Given the description of an element on the screen output the (x, y) to click on. 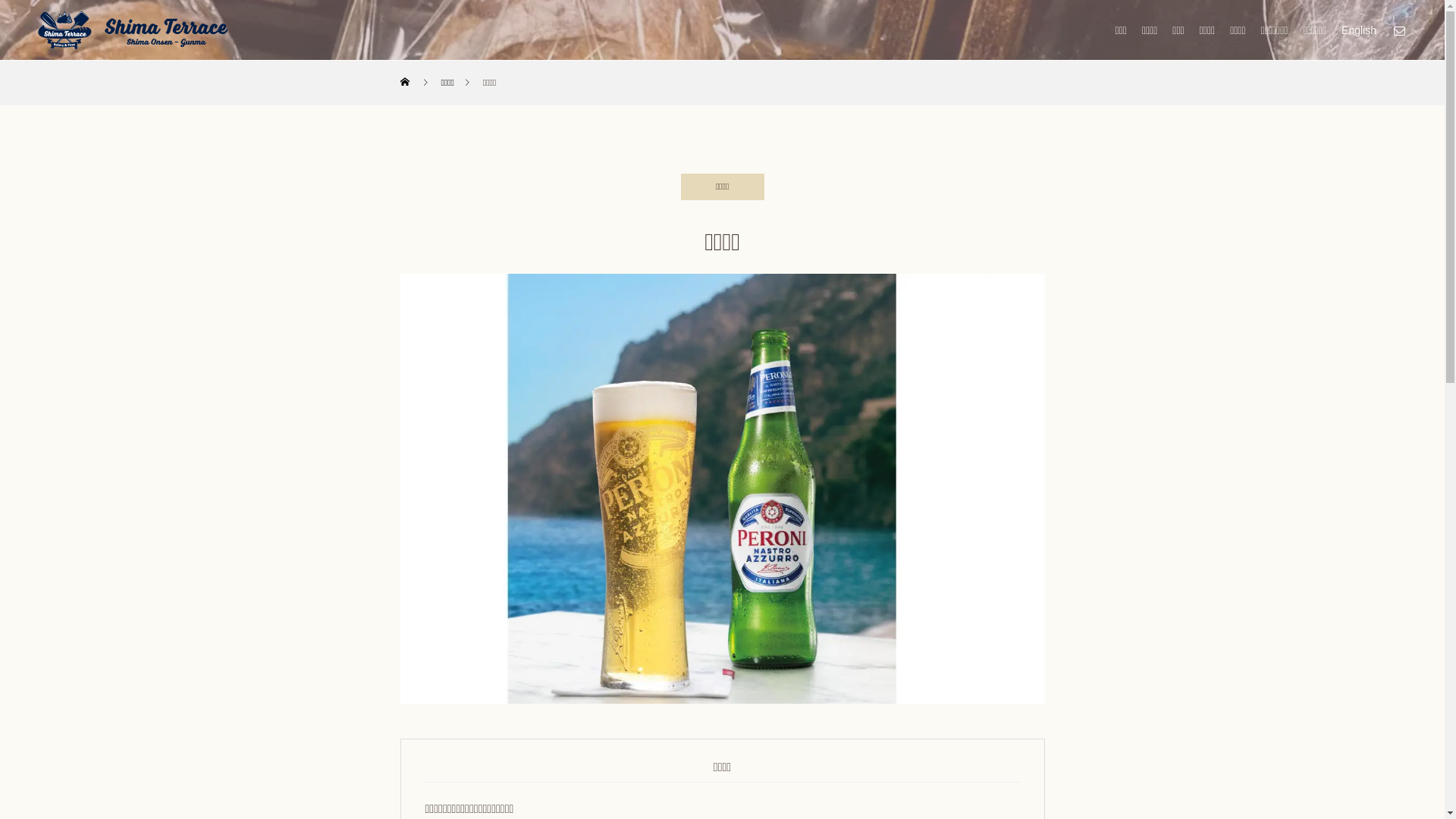
Contact Element type: hover (1398, 29)
English Element type: text (1358, 30)
